Given the description of an element on the screen output the (x, y) to click on. 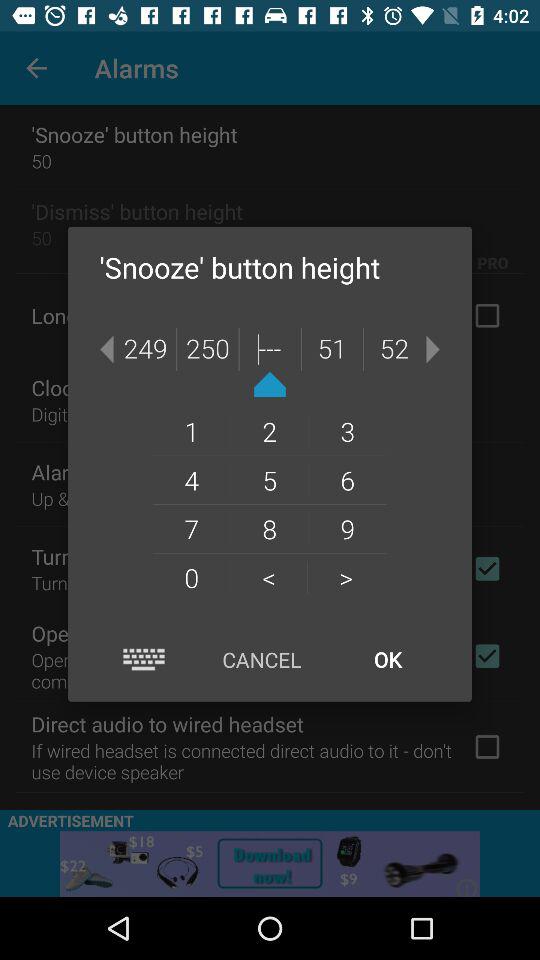
choose the 6 item (347, 479)
